Given the description of an element on the screen output the (x, y) to click on. 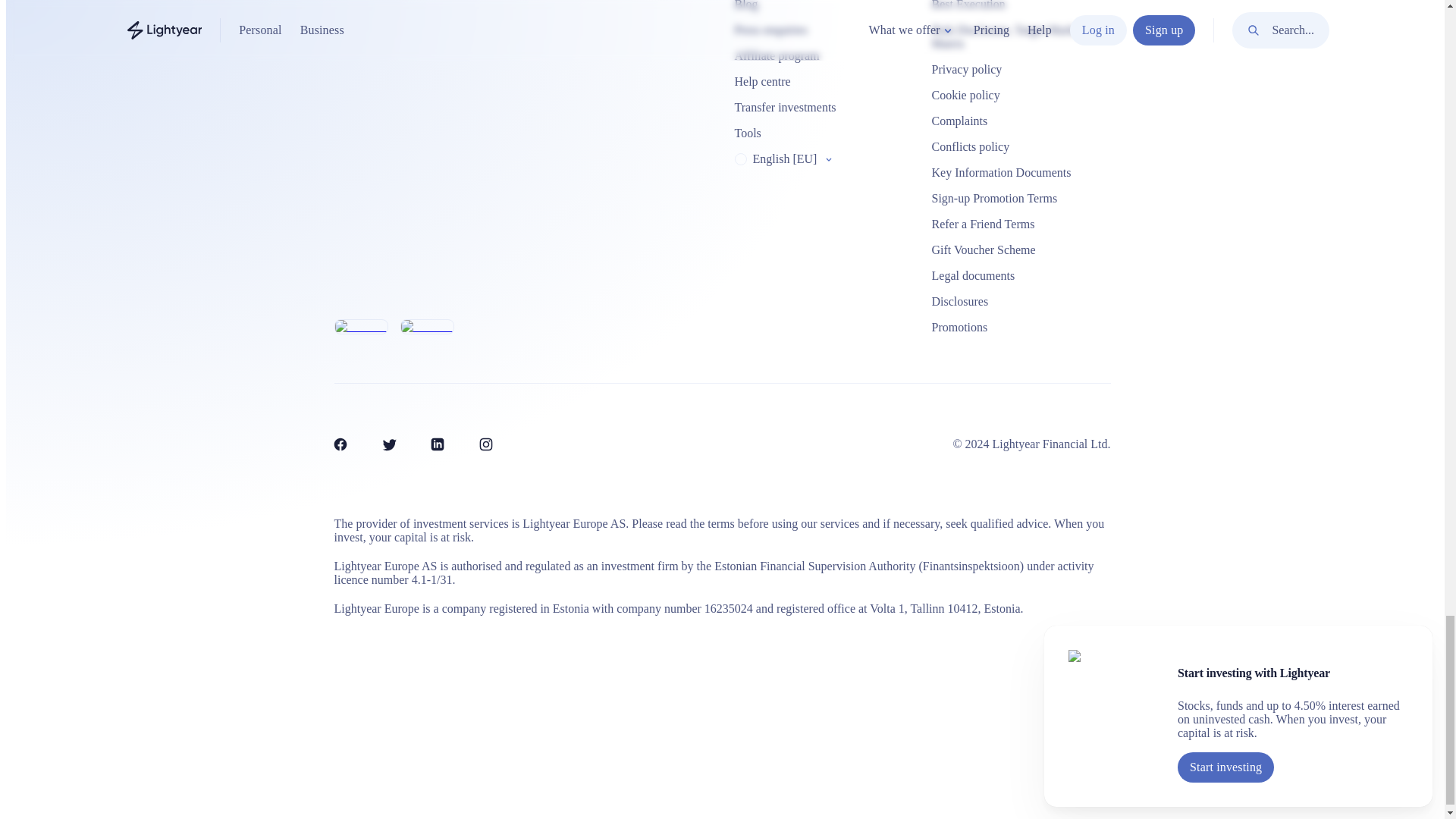
Europe (739, 159)
